Given the description of an element on the screen output the (x, y) to click on. 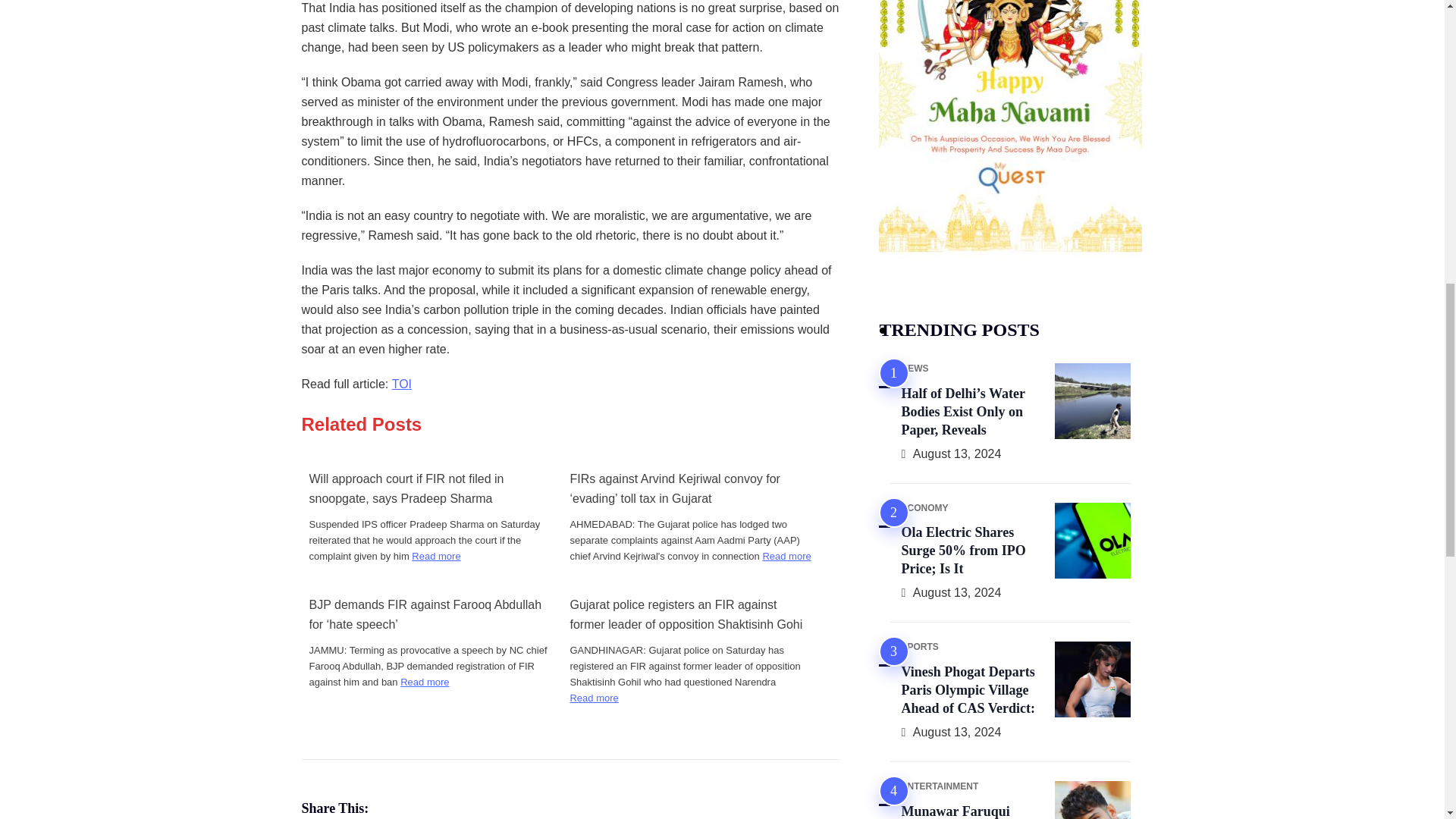
Read more (593, 697)
Read more (436, 555)
Read more (424, 682)
TOI (401, 383)
Read more (785, 555)
